Given the description of an element on the screen output the (x, y) to click on. 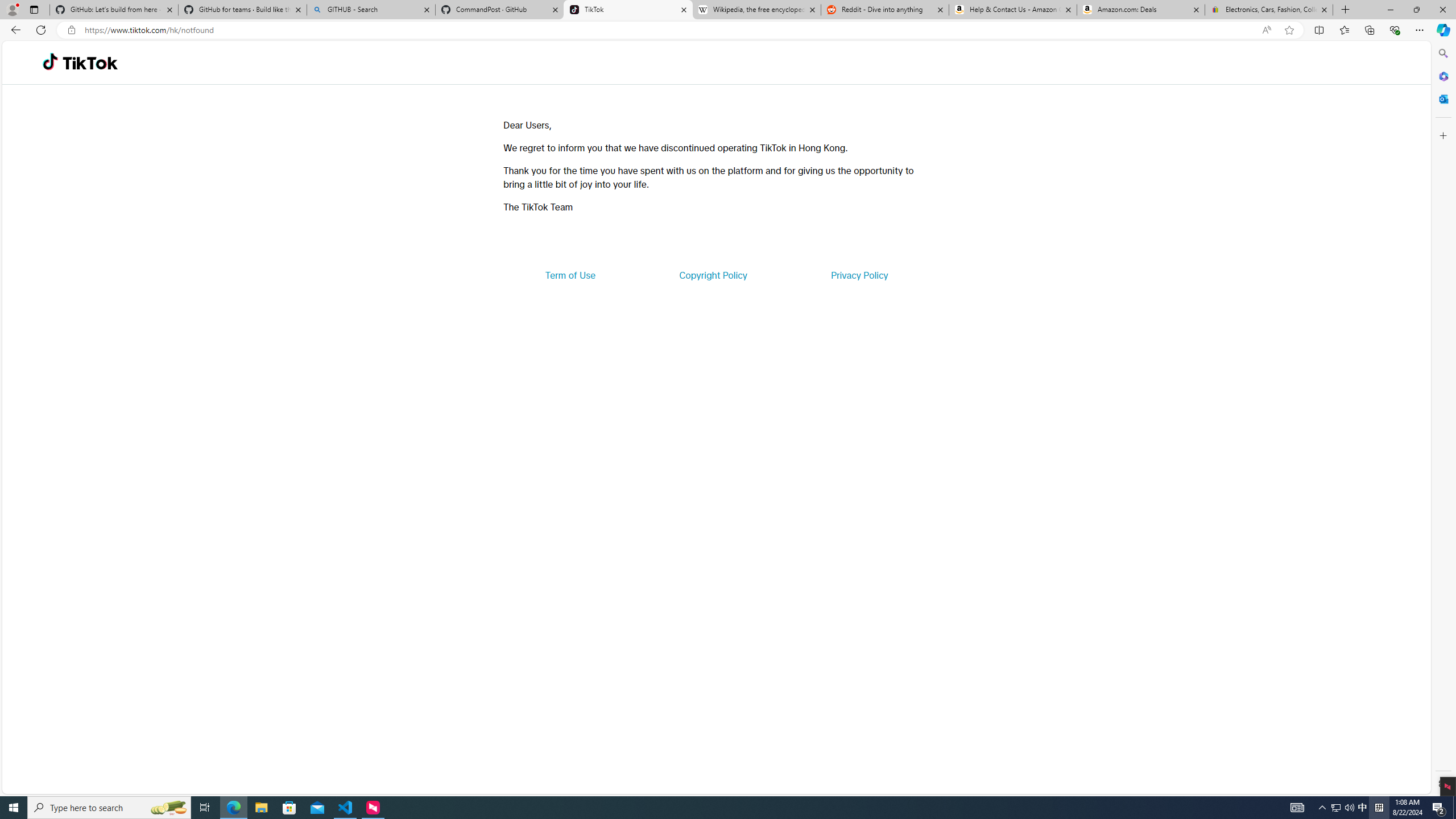
GITHUB - Search (370, 9)
Wikipedia, the free encyclopedia (756, 9)
Term of Use (569, 274)
